Given the description of an element on the screen output the (x, y) to click on. 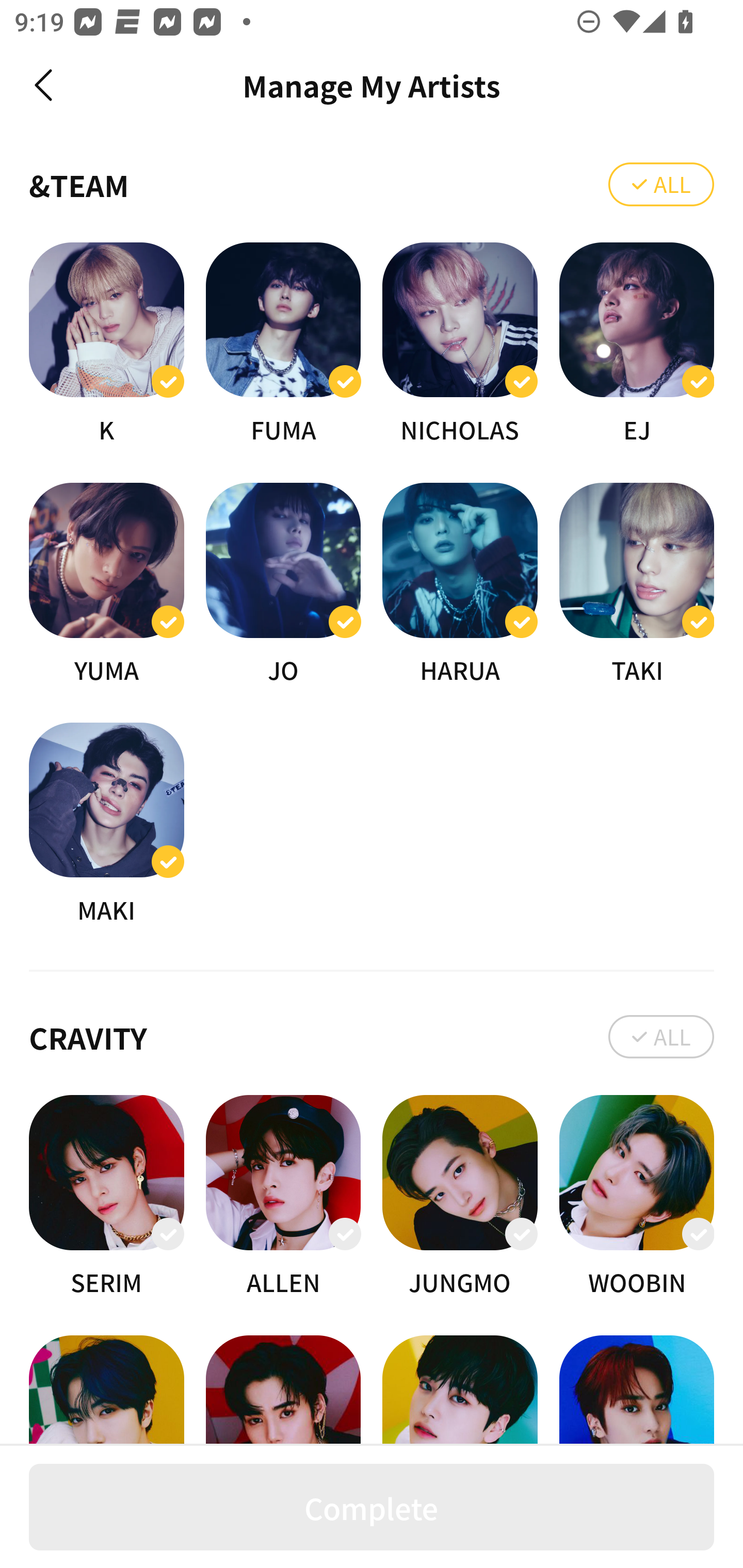
ALL (661, 184)
K (106, 344)
FUMA (282, 344)
NICHOLAS (459, 344)
EJ (636, 344)
YUMA (106, 584)
JO (282, 584)
HARUA (459, 584)
TAKI (636, 584)
MAKI (106, 824)
ALL (661, 1036)
SERIM (106, 1196)
ALLEN (282, 1196)
JUNGMO (459, 1196)
WOOBIN (636, 1196)
Complete (371, 1507)
